Given the description of an element on the screen output the (x, y) to click on. 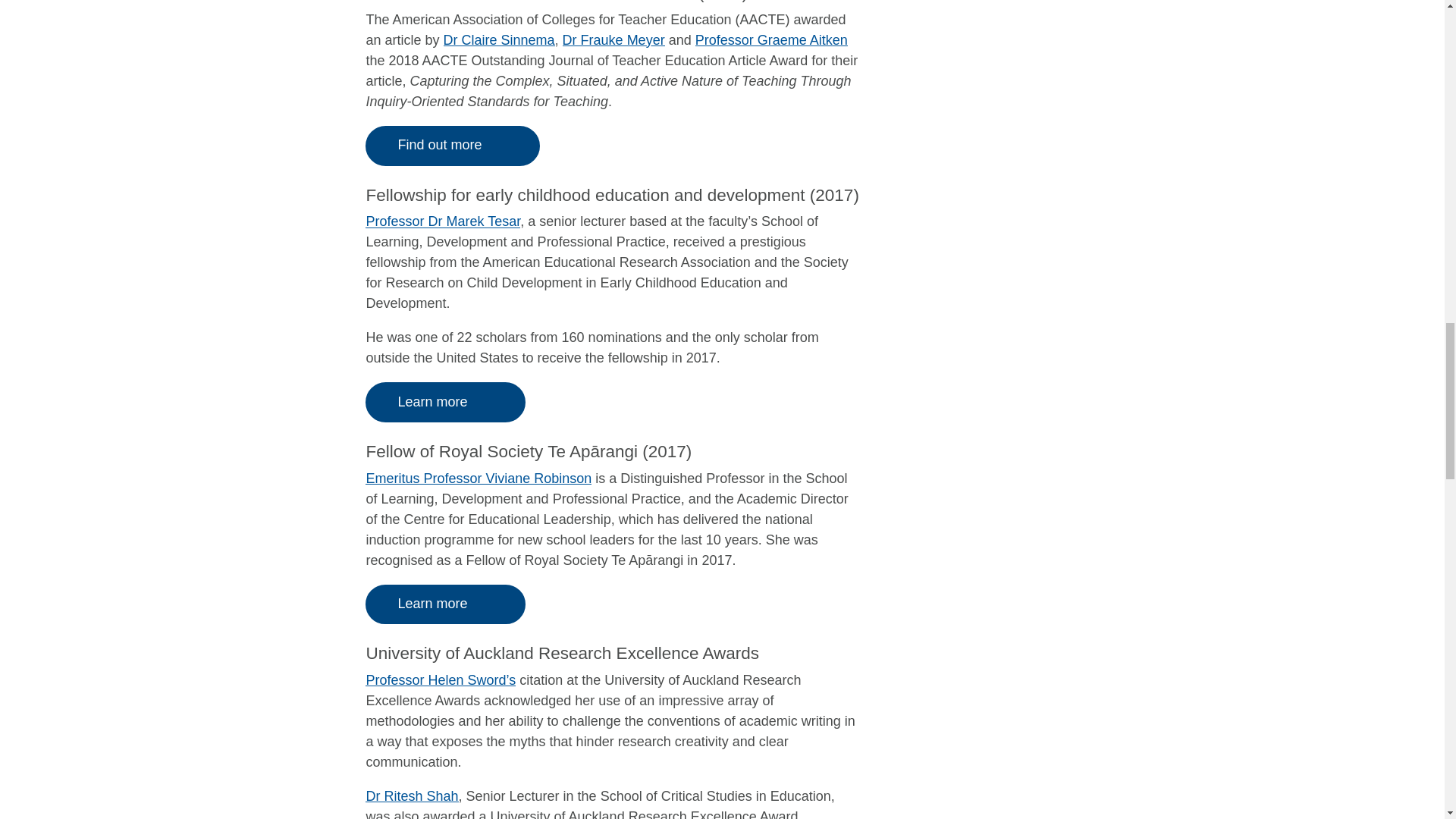
Learn more (445, 604)
Find out more (452, 146)
Learn more (445, 402)
